Given the description of an element on the screen output the (x, y) to click on. 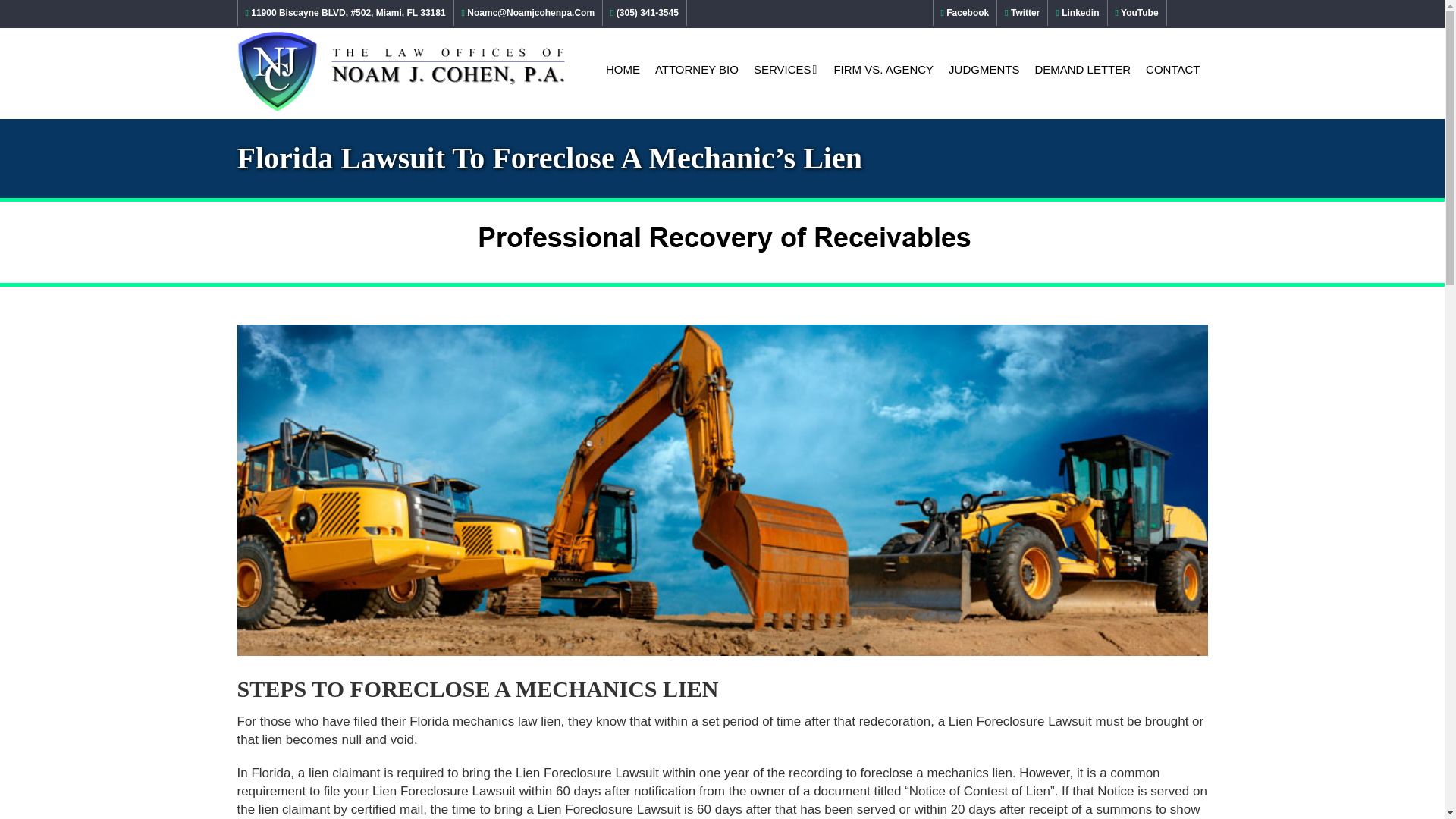
SERVICES (785, 69)
YouTube (1137, 12)
Twitter (1021, 12)
FIRM VS. AGENCY (882, 69)
ATTORNEY BIO (696, 69)
JUDGMENTS (983, 69)
DEMAND LETTER (1082, 69)
Linkedin (1077, 12)
Facebook (964, 12)
